Given the description of an element on the screen output the (x, y) to click on. 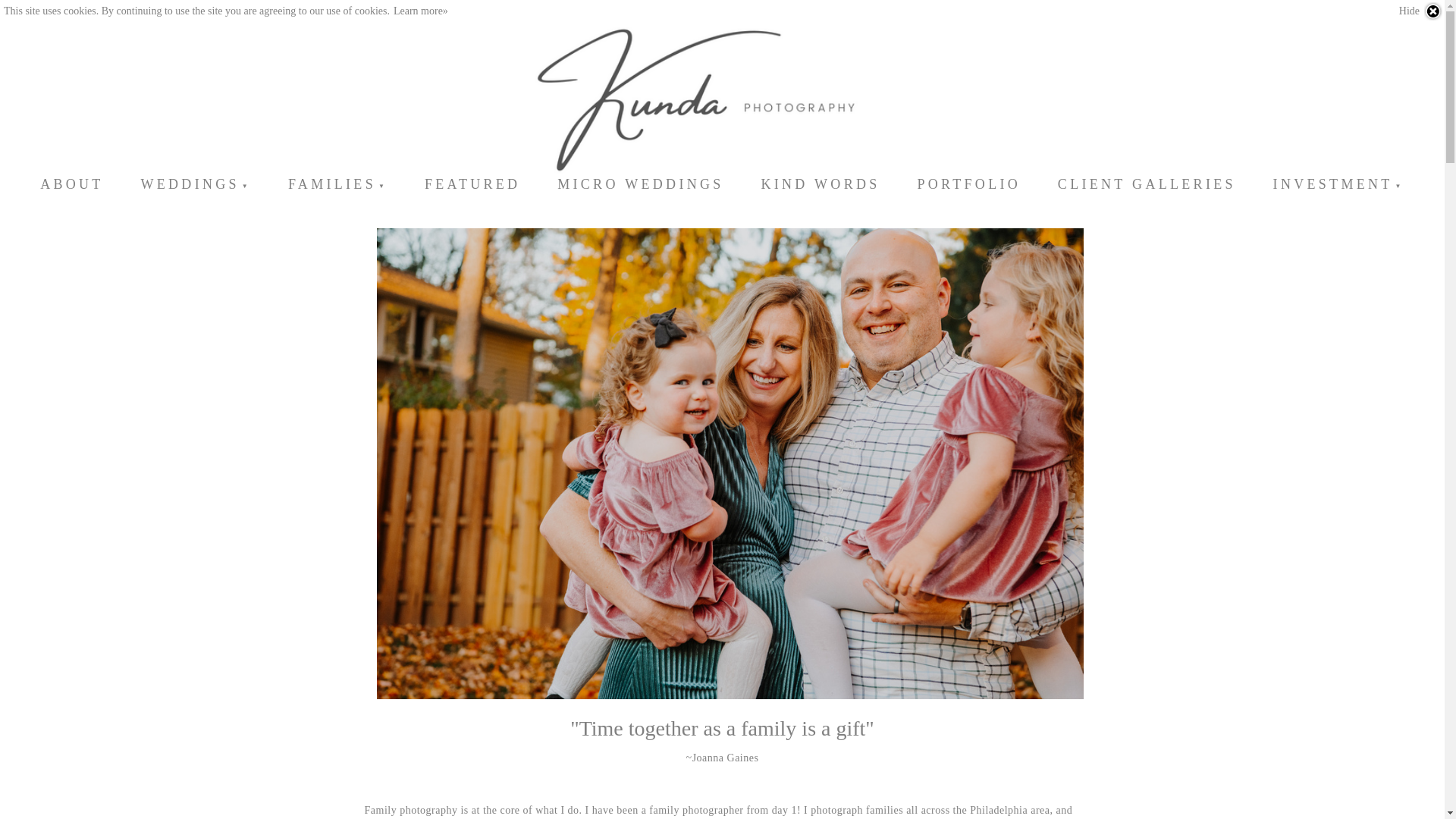
MICRO WEDDINGS (639, 183)
Kunda Photography (721, 99)
PORTFOLIO (968, 183)
CLIENT GALLERIES (1146, 183)
FEATURED (472, 183)
KIND WORDS (820, 183)
Hide (1420, 11)
ABOUT (71, 183)
